Given the description of an element on the screen output the (x, y) to click on. 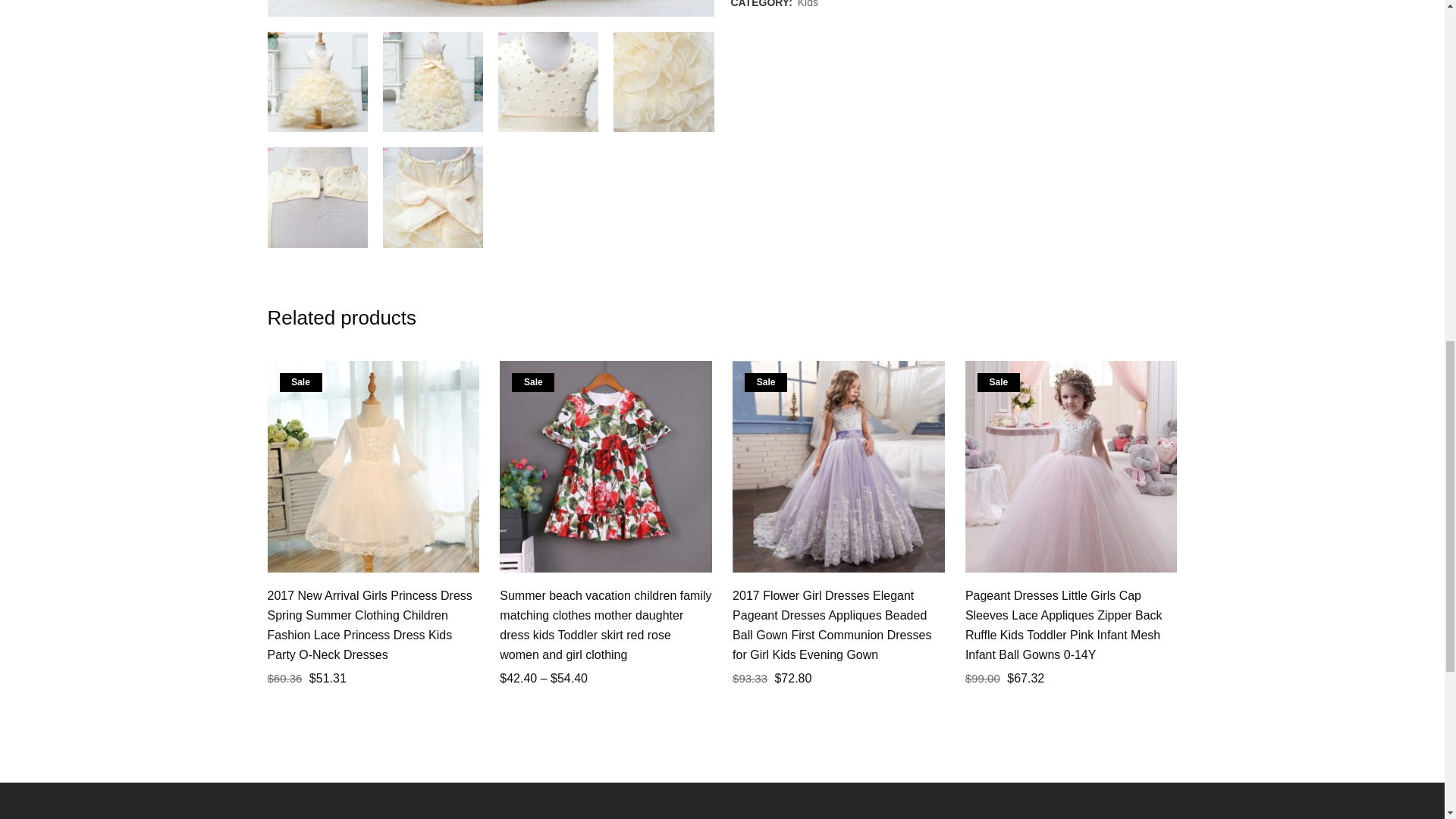
8389-f896f0c8452e0ec4610dd29fbbc89595.jpg (432, 81)
8389-c916672661302e28c86abbd6373fb54a.jpg (316, 81)
8389-2be52c92cdba14874f4a332d93e1bf03.jpg (662, 81)
8389-35f9ccf15ce182e412ee0d38ea816238.jpg (547, 81)
8389-152236621caab5082d1026441b04c299.jpg (316, 197)
8389-529925556d8855e90e4c5bd633b995b6.jpg (432, 197)
8389-c916672661302e28c86abbd6373fb54a.jpg (489, 8)
